Given the description of an element on the screen output the (x, y) to click on. 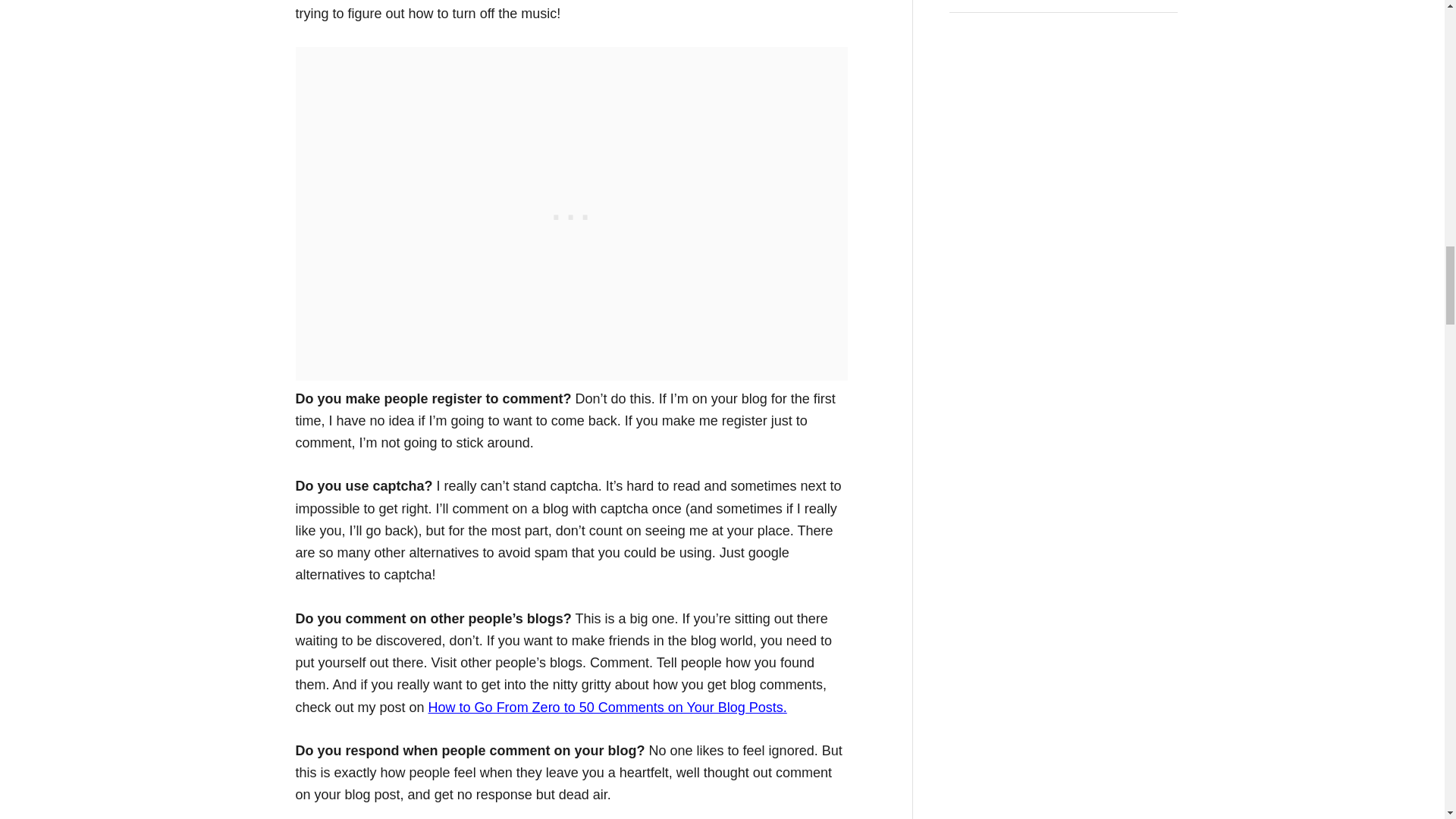
How to Go From Zero to 50 Comments on Your Blog Posts. (607, 707)
